Given the description of an element on the screen output the (x, y) to click on. 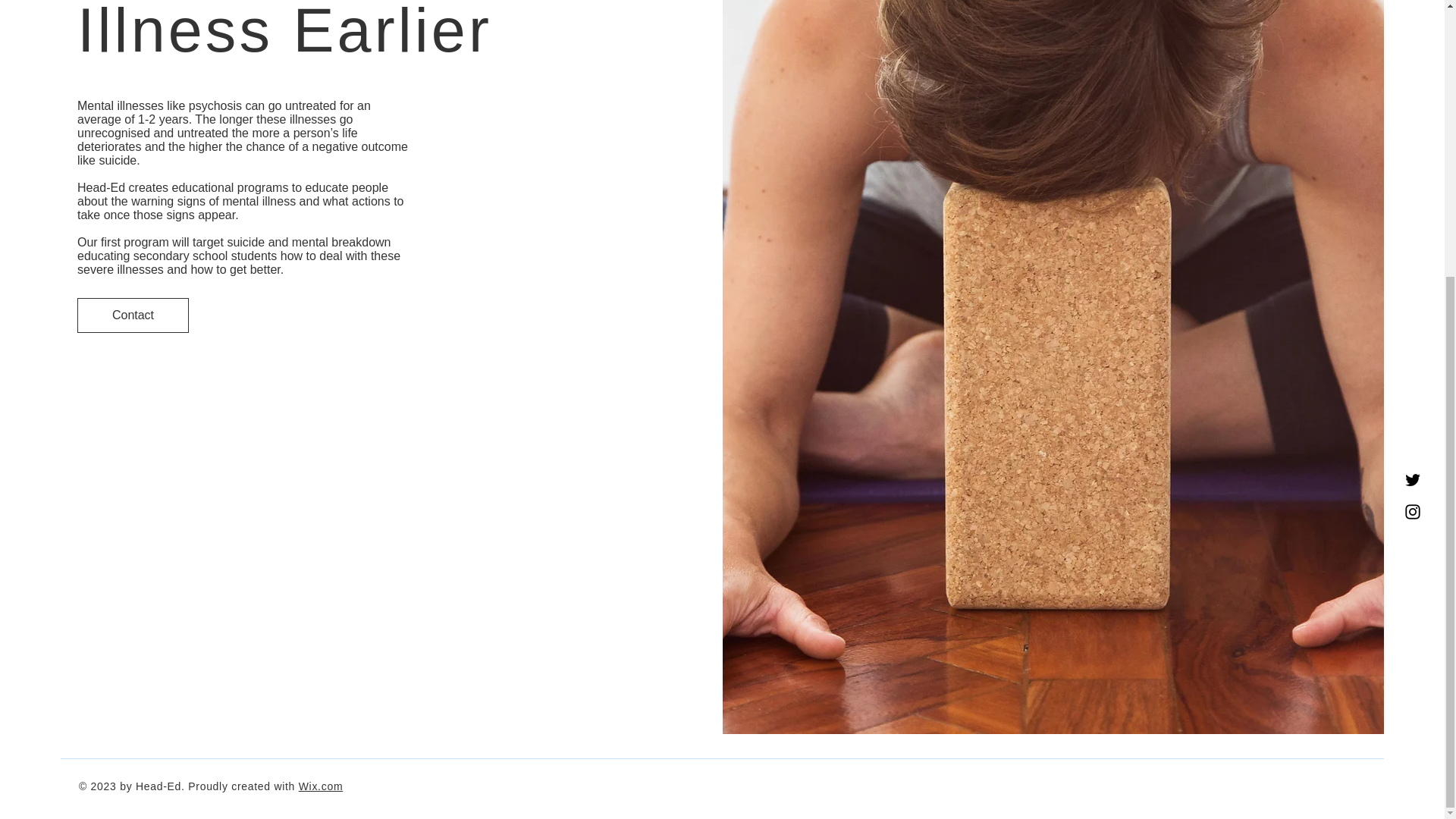
Wix.com (320, 786)
Contact (133, 315)
